Given the description of an element on the screen output the (x, y) to click on. 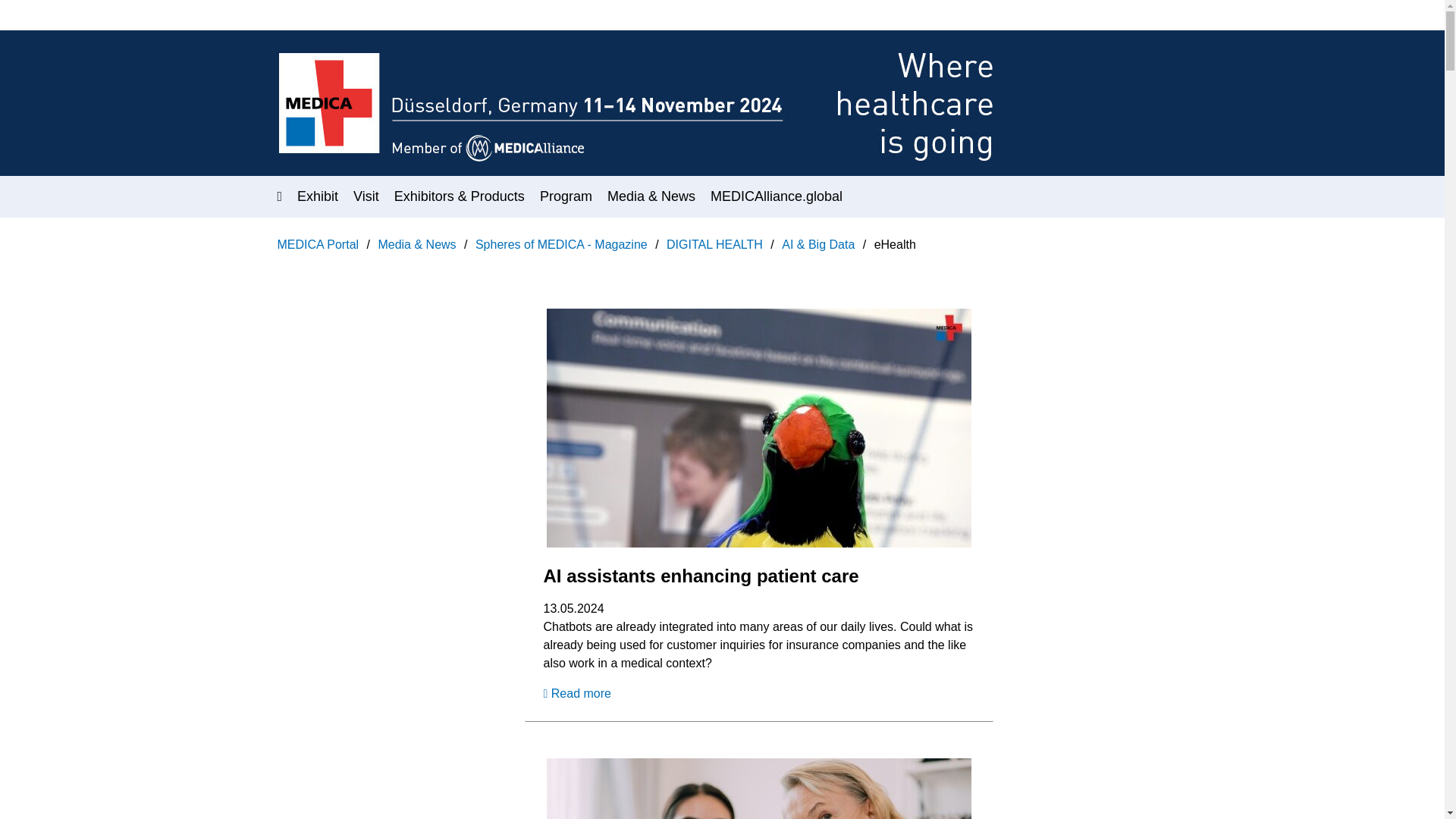
Exhibit (317, 196)
Visit (365, 196)
Exhibit (317, 196)
